Given the description of an element on the screen output the (x, y) to click on. 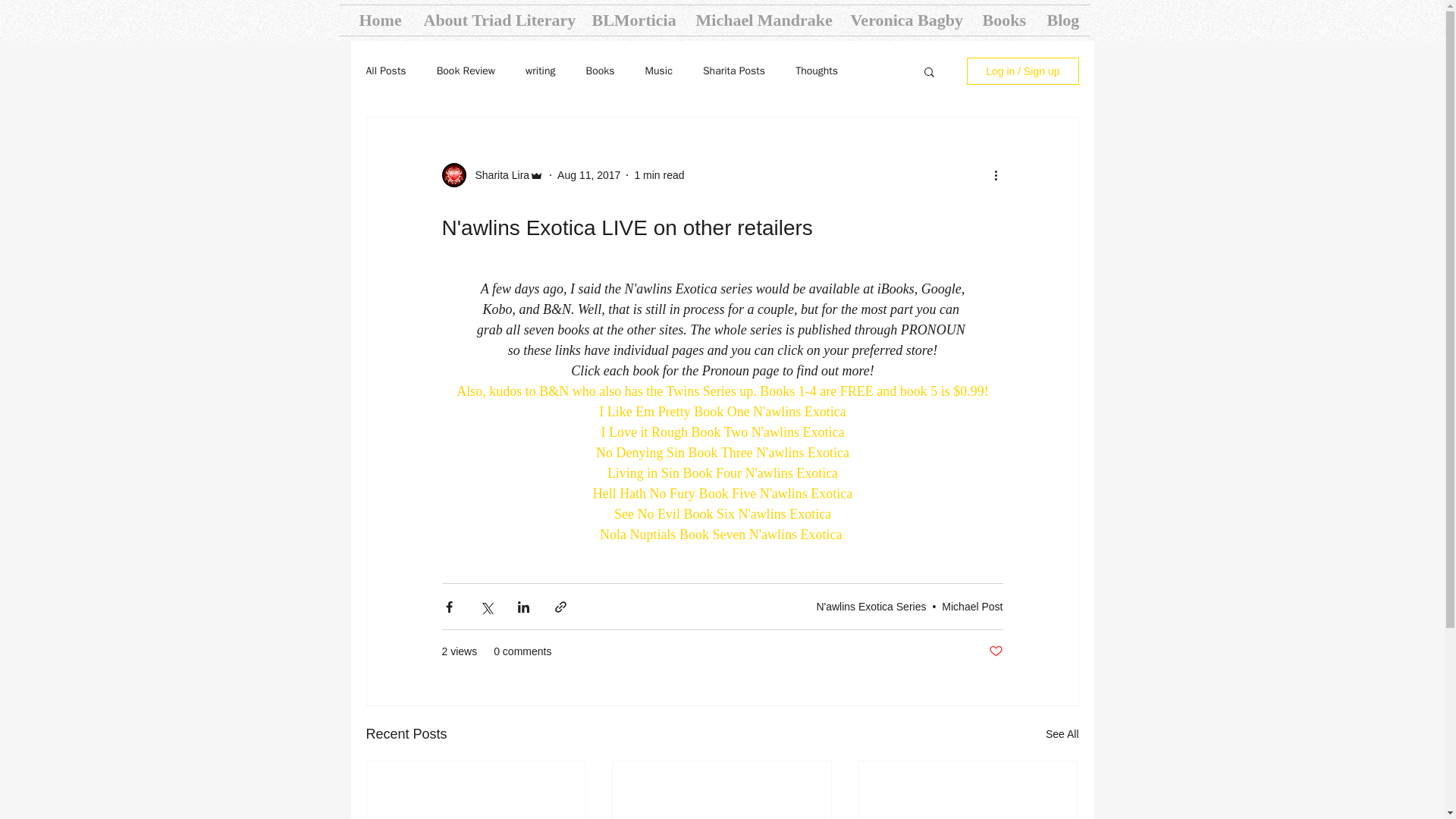
Blog (1062, 20)
1 min read (658, 174)
Veronica Bagby (904, 20)
Books (1003, 20)
writing (539, 70)
Home (379, 20)
Sharita Lira (497, 174)
BLMorticia (632, 20)
All Posts (385, 70)
Michael Mandrake (761, 20)
About Triad Literary (496, 20)
Book Review (465, 70)
Aug 11, 2017 (588, 174)
